Given the description of an element on the screen output the (x, y) to click on. 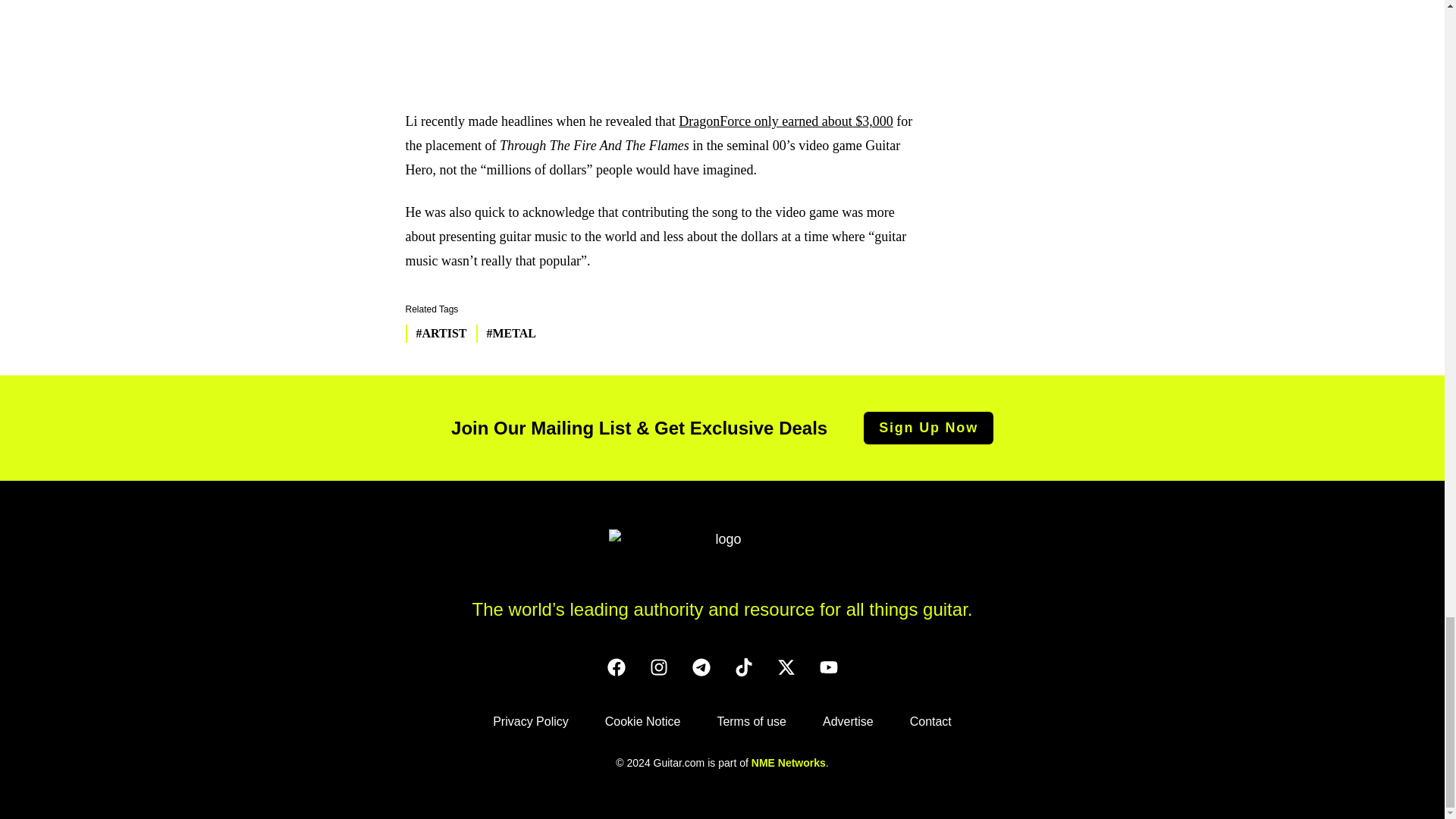
Sign Up Now (927, 427)
Artist (434, 333)
Herman Li Talks to Me (666, 39)
Metal (505, 333)
